Given the description of an element on the screen output the (x, y) to click on. 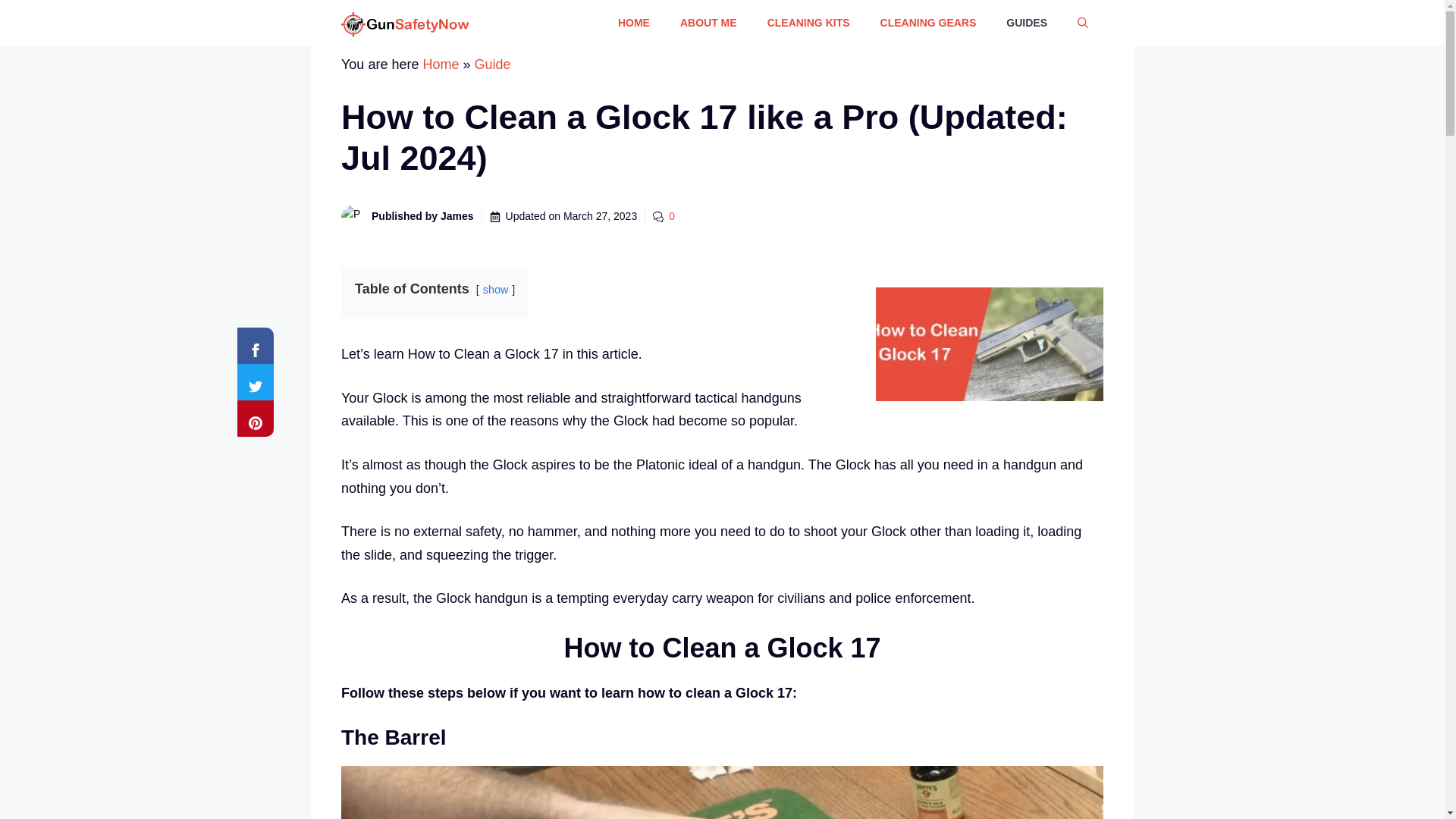
Guide (492, 64)
CLEANING GEARS (927, 22)
GUIDES (1026, 22)
Home (440, 64)
Gun Safety Now (405, 22)
HOME (633, 22)
CLEANING KITS (808, 22)
ABOUT ME (708, 22)
show (495, 289)
